Given the description of an element on the screen output the (x, y) to click on. 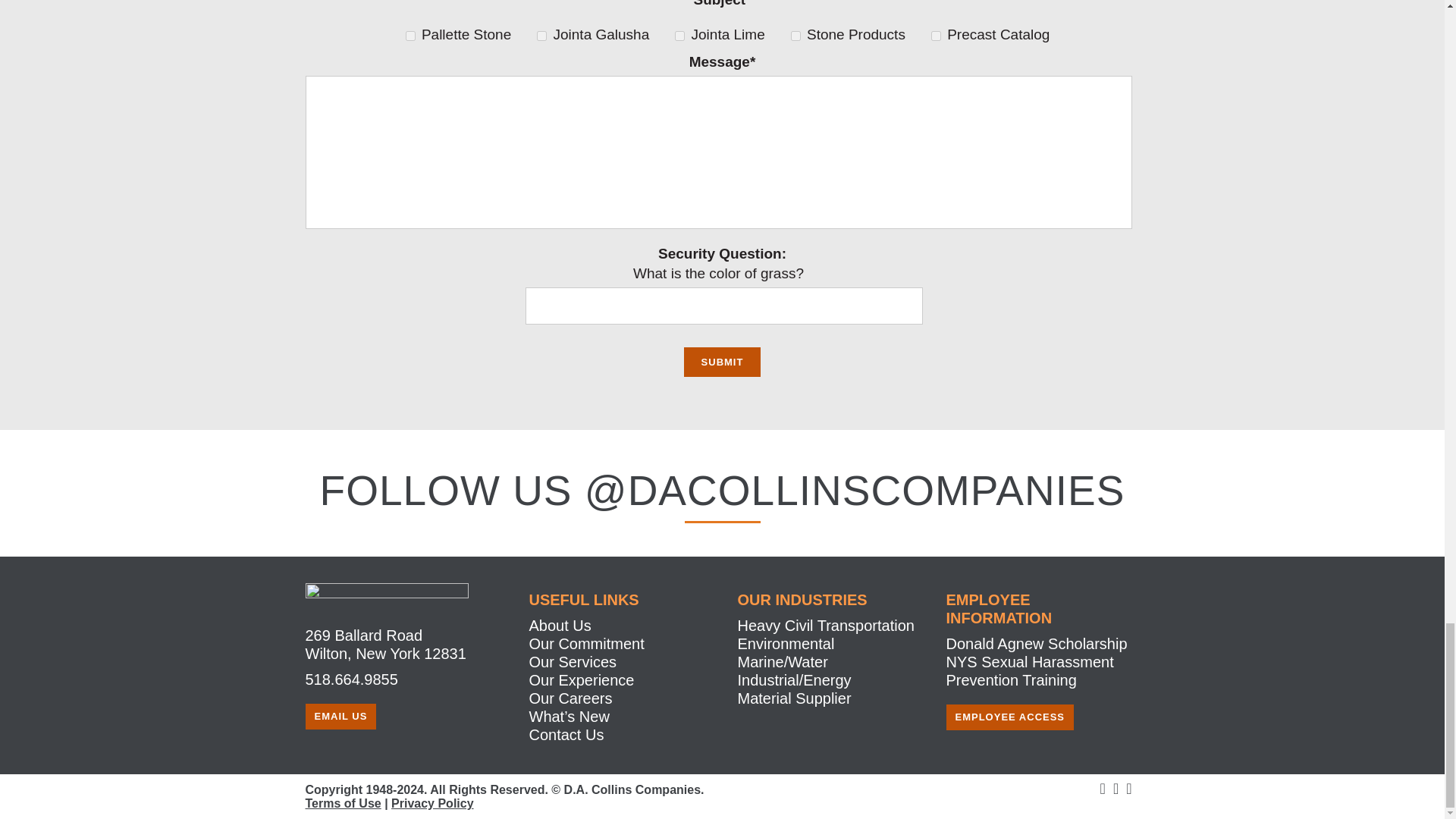
Jointa Galusha (542, 35)
Jointa Lime (679, 35)
Stone Products (795, 35)
Precast Catalog (935, 35)
Pallette Stone (410, 35)
SUBMIT (722, 361)
